Given the description of an element on the screen output the (x, y) to click on. 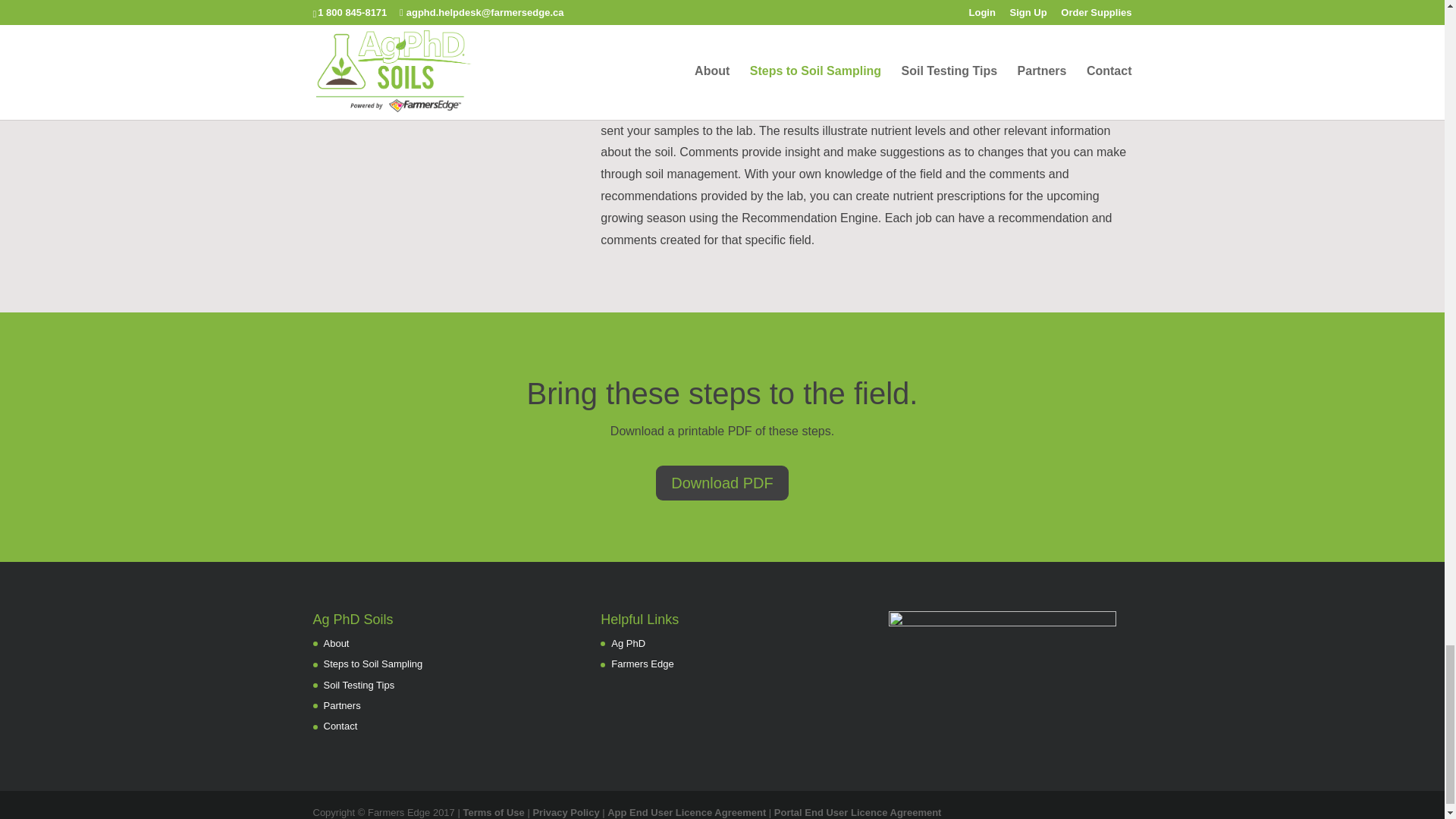
Partners (341, 705)
Farmers Edge (641, 663)
Soil Testing Tips (358, 685)
Terms of Use (493, 812)
Download PDF (722, 483)
Portal End User Licence Agreement (858, 812)
Contact (339, 726)
Steps to Soil Sampling (372, 663)
About (336, 643)
Ag PhD (628, 643)
